Given the description of an element on the screen output the (x, y) to click on. 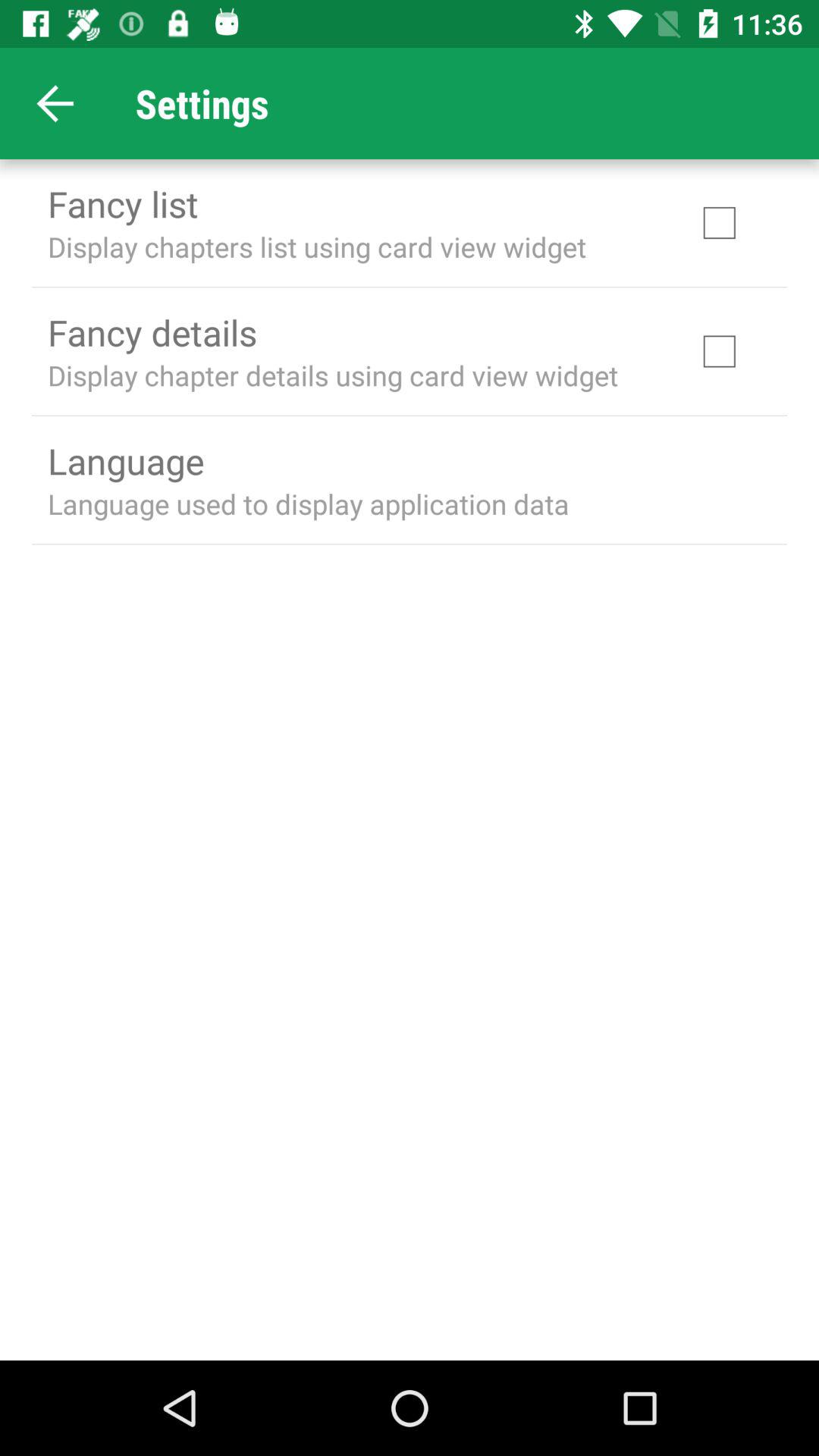
turn on the item to the left of settings icon (55, 103)
